Given the description of an element on the screen output the (x, y) to click on. 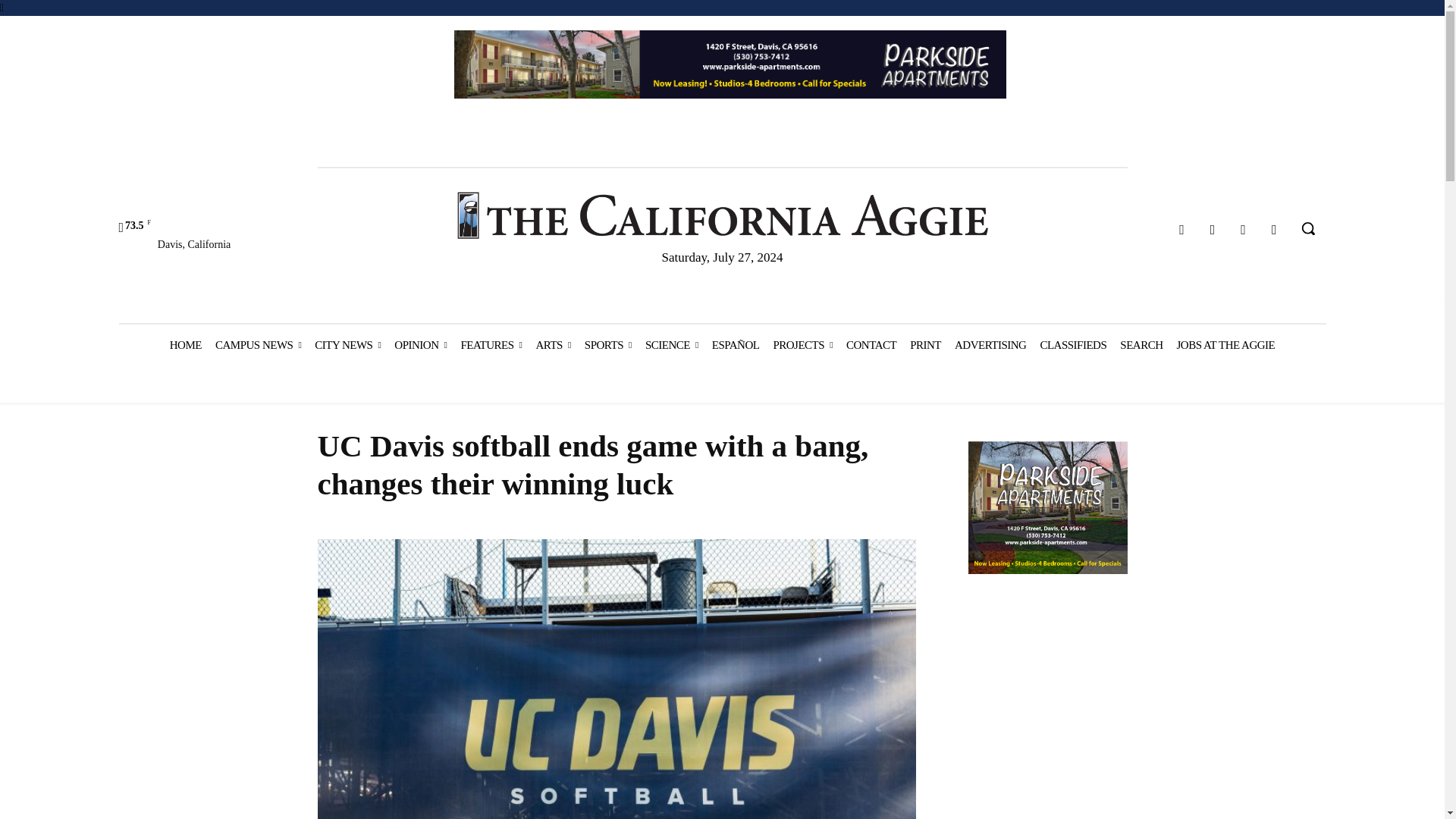
HOME (185, 345)
Facebook (1181, 229)
Youtube (1273, 229)
Instagram (1212, 229)
Twitter (1243, 229)
CAMPUS NEWS (257, 345)
